Given the description of an element on the screen output the (x, y) to click on. 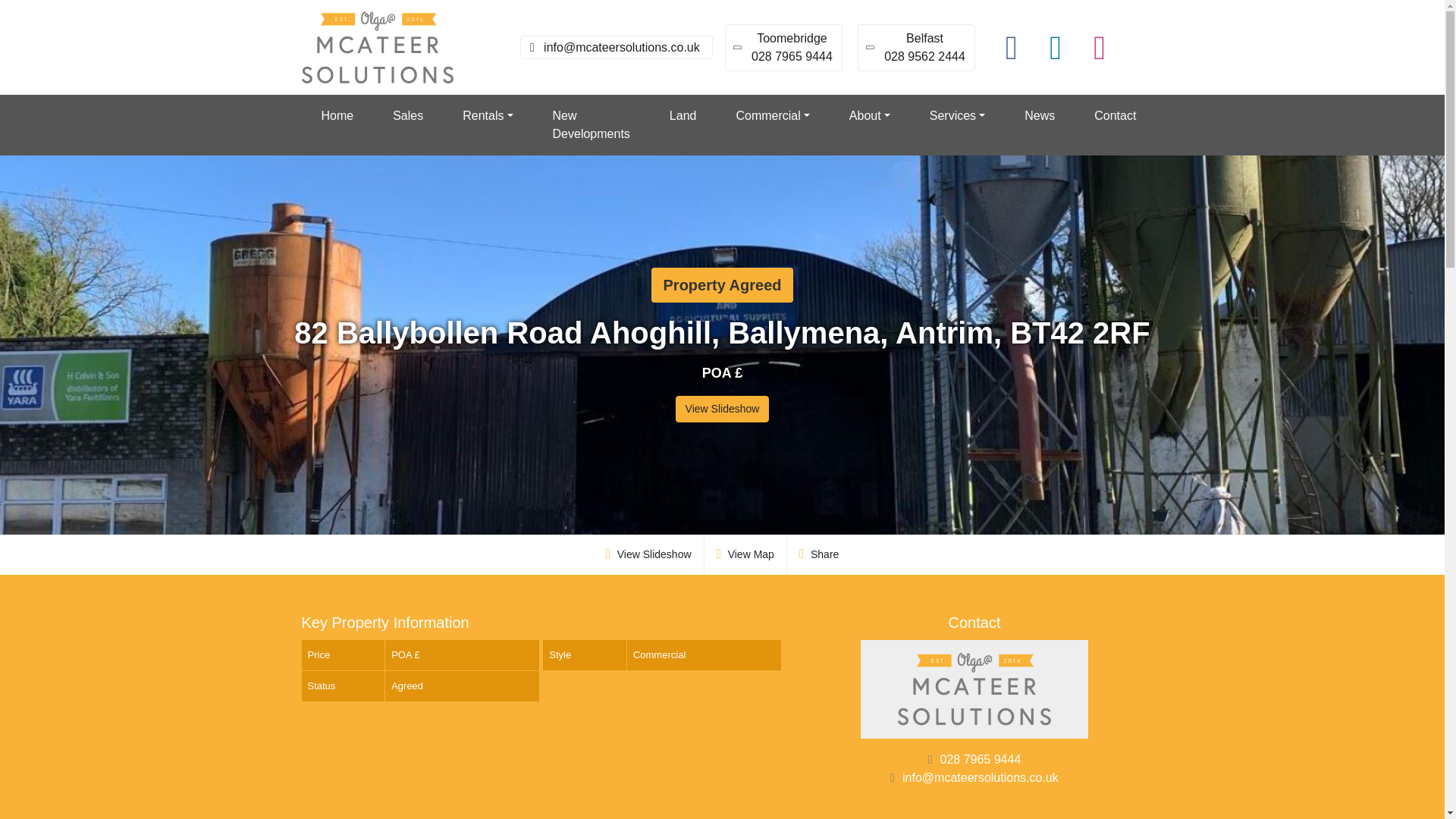
About (869, 116)
Services (957, 116)
View Map (745, 554)
New Developments (916, 47)
Sales (590, 125)
News (407, 116)
Contact (1039, 116)
Land (784, 47)
